Given the description of an element on the screen output the (x, y) to click on. 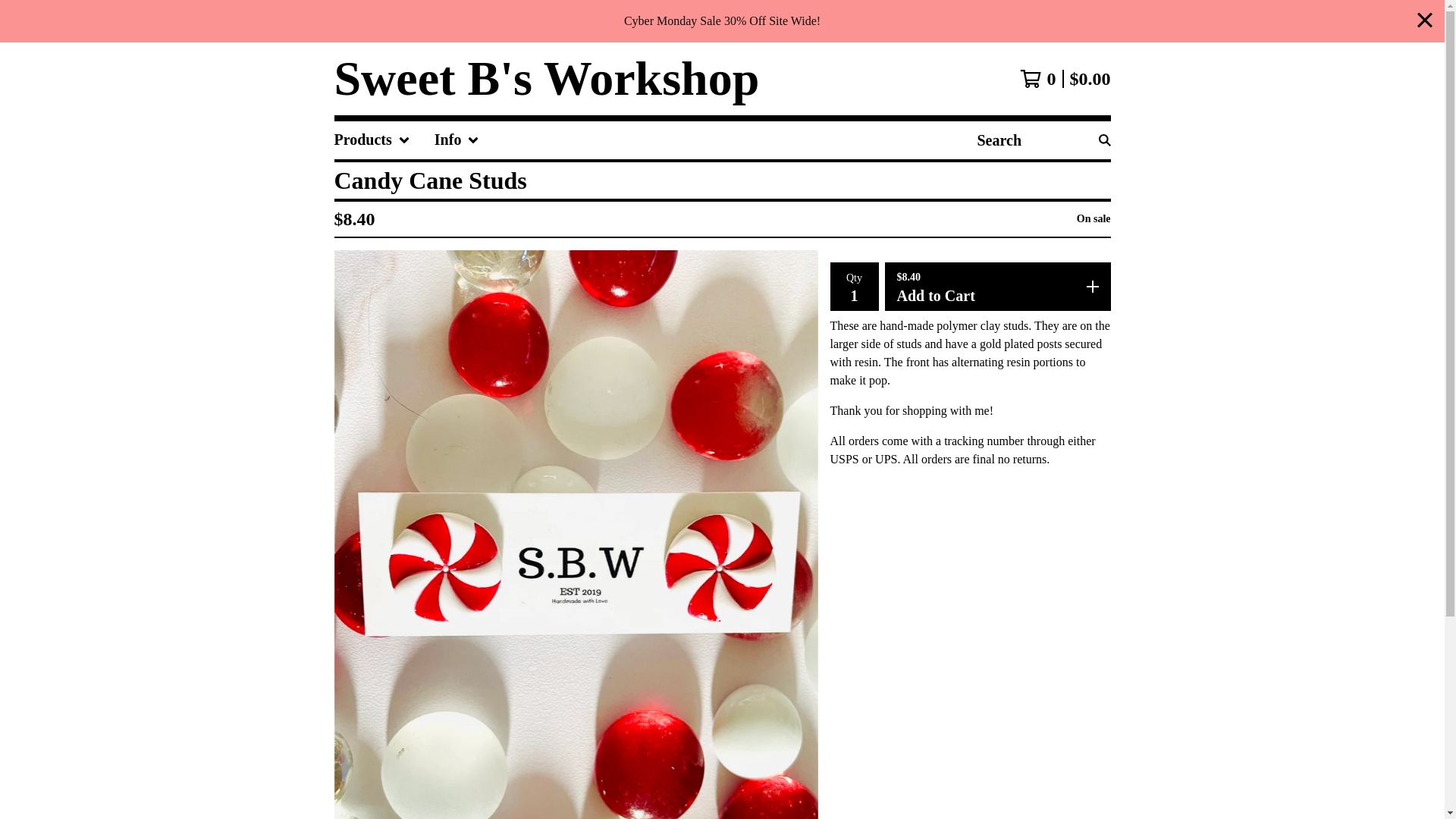
Info (456, 139)
Sweet B's Workshop (545, 78)
Products (371, 139)
Home (545, 78)
1 (853, 294)
View cart (1064, 78)
